Given the description of an element on the screen output the (x, y) to click on. 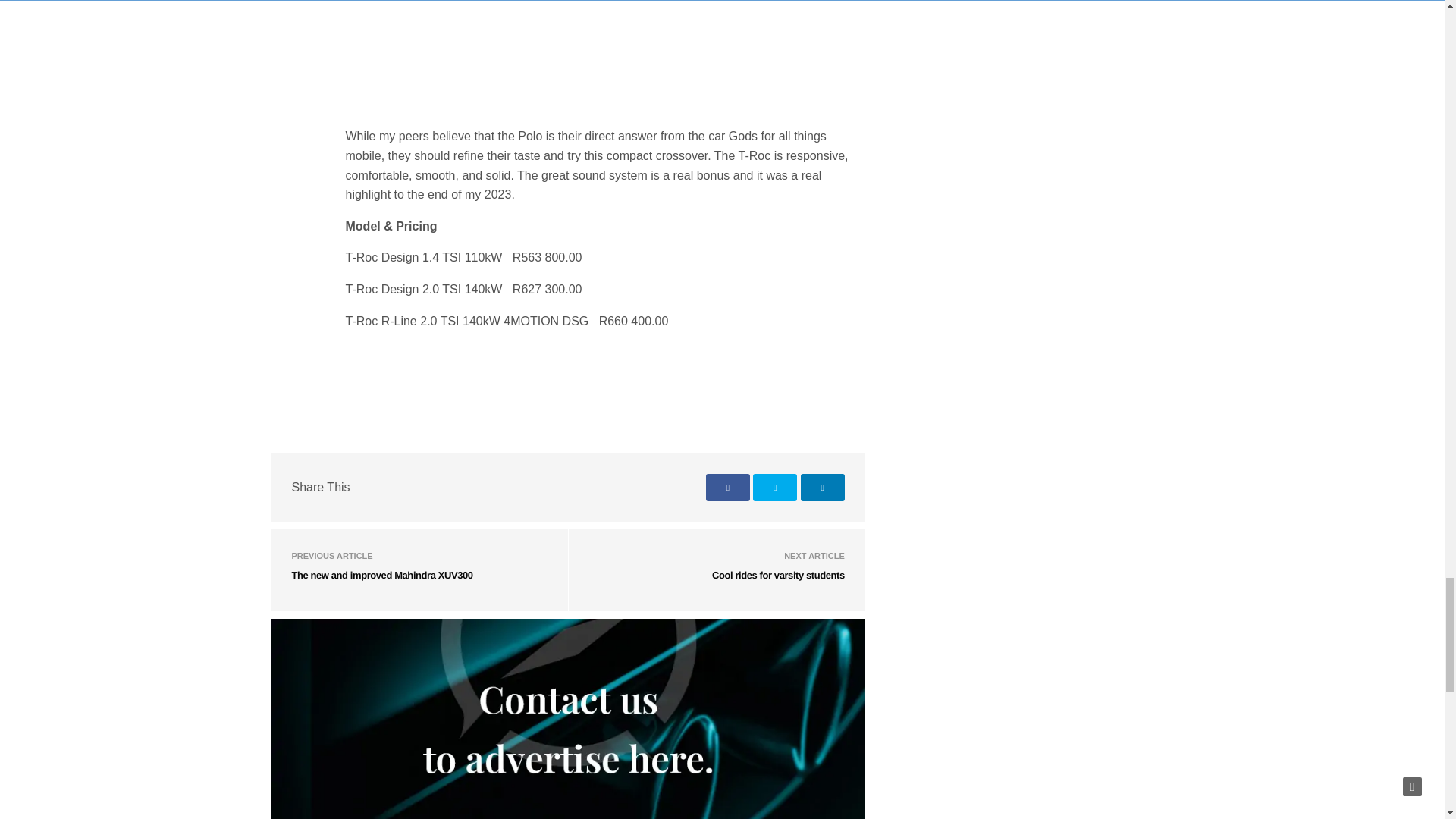
Cool rides for varsity students (777, 574)
The new and improved Mahindra XUV300 (381, 574)
